Given the description of an element on the screen output the (x, y) to click on. 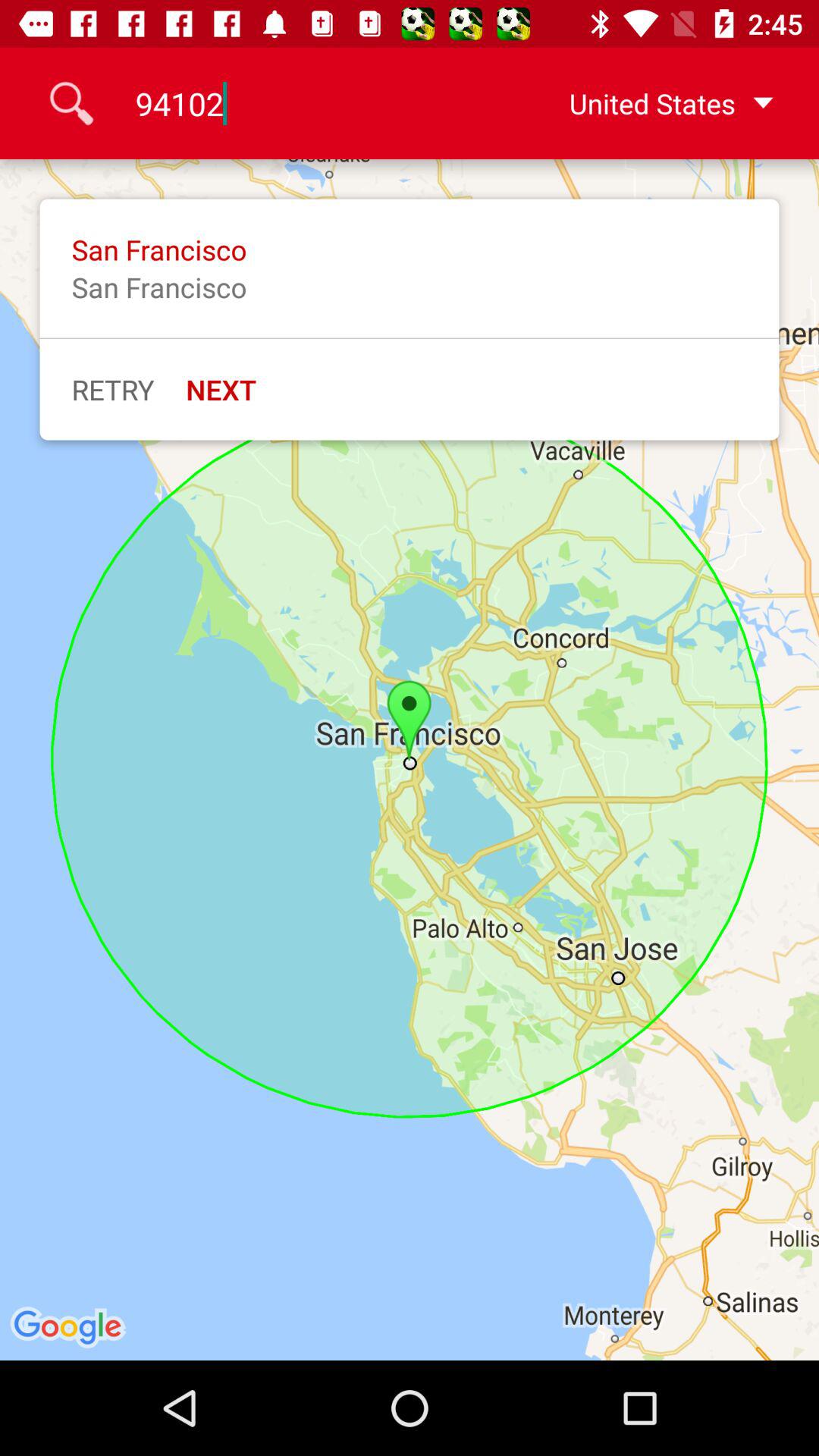
open icon next to the next item (112, 389)
